Given the description of an element on the screen output the (x, y) to click on. 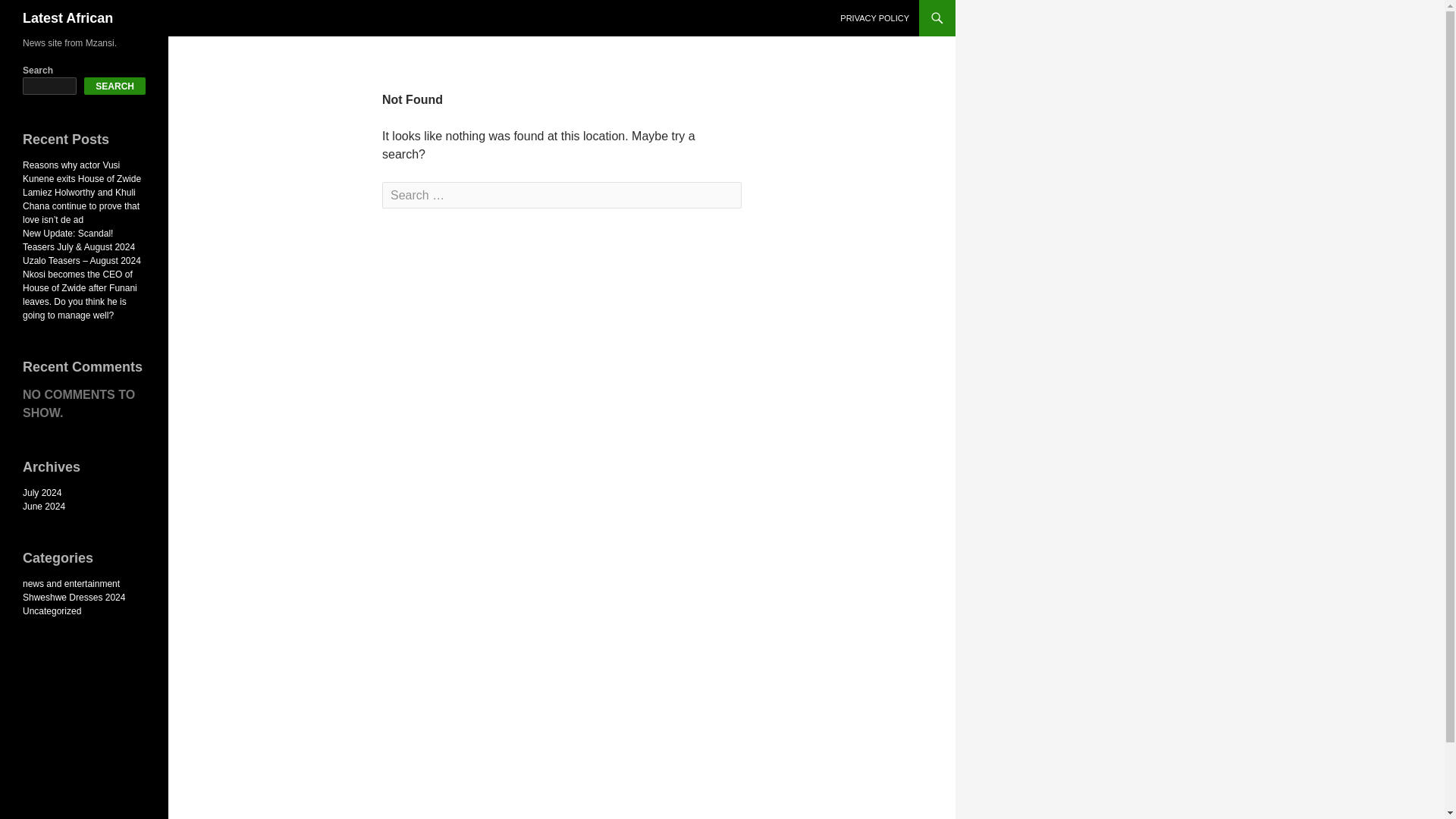
news and entertainment (71, 583)
July 2024 (42, 492)
PRIVACY POLICY (874, 18)
SEARCH (114, 85)
Reasons why actor Vusi Kunene exits House of Zwide (82, 171)
Latest African (68, 18)
Shweshwe Dresses 2024 (74, 597)
June 2024 (44, 506)
Uncategorized (52, 611)
Search (42, 13)
